Given the description of an element on the screen output the (x, y) to click on. 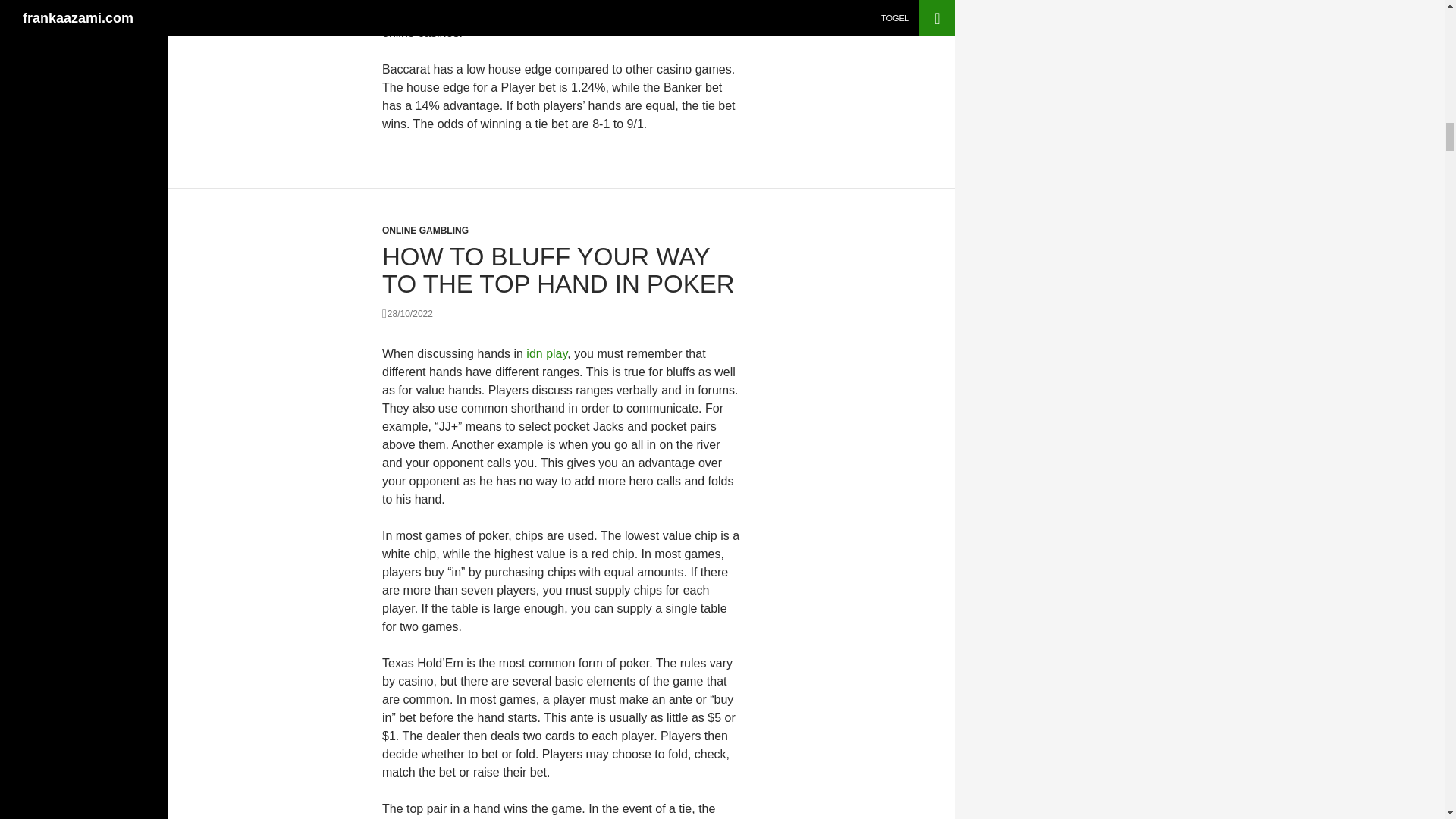
ONLINE GAMBLING (424, 230)
HOW TO BLUFF YOUR WAY TO THE TOP HAND IN POKER (558, 270)
idn play (546, 353)
